Given the description of an element on the screen output the (x, y) to click on. 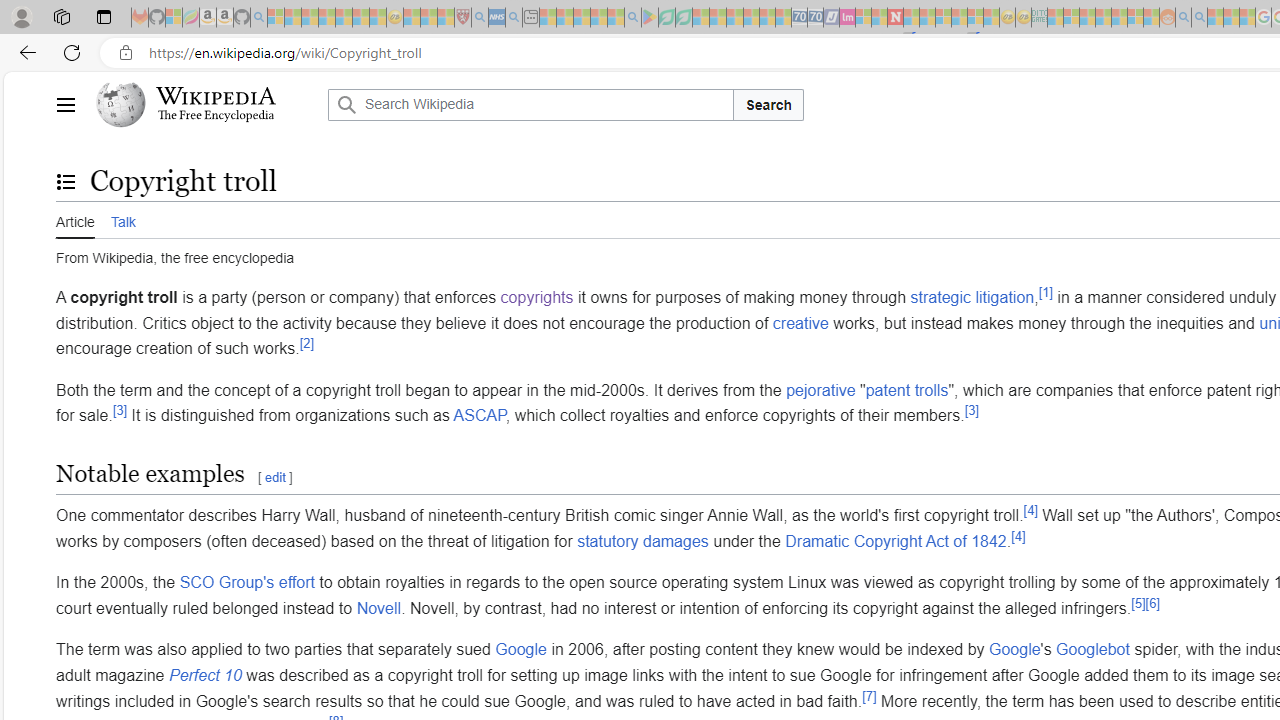
Kinda Frugal - MSN - Sleeping (1119, 17)
SCO Group's effort (246, 582)
[5] (1138, 602)
Talk (122, 219)
pejorative (820, 389)
creative (800, 322)
Novell (378, 608)
